Given the description of an element on the screen output the (x, y) to click on. 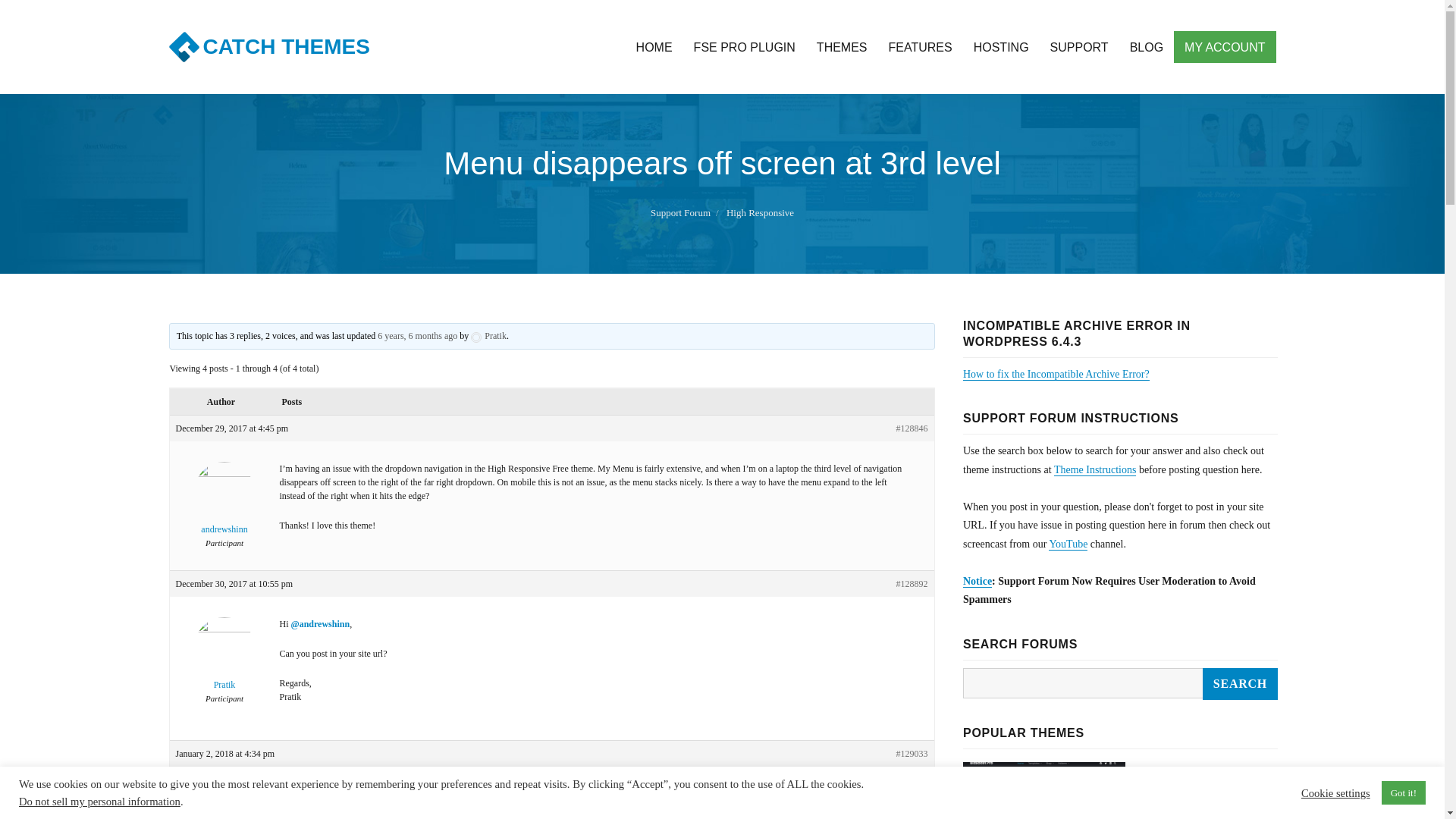
Pratik (223, 664)
FSE PRO PLUGIN (744, 47)
andrewshinn (223, 508)
CATCH THEMES (286, 46)
YouTube (1067, 543)
View andrewshinn's profile (223, 508)
Notice (976, 581)
Search (1240, 684)
6 years, 6 months ago (417, 335)
Support Forum (680, 211)
BLOG (1146, 47)
BizBoost Pro (1048, 814)
High Responsive (759, 211)
BUY NOW (1169, 802)
Search (1240, 684)
